Given the description of an element on the screen output the (x, y) to click on. 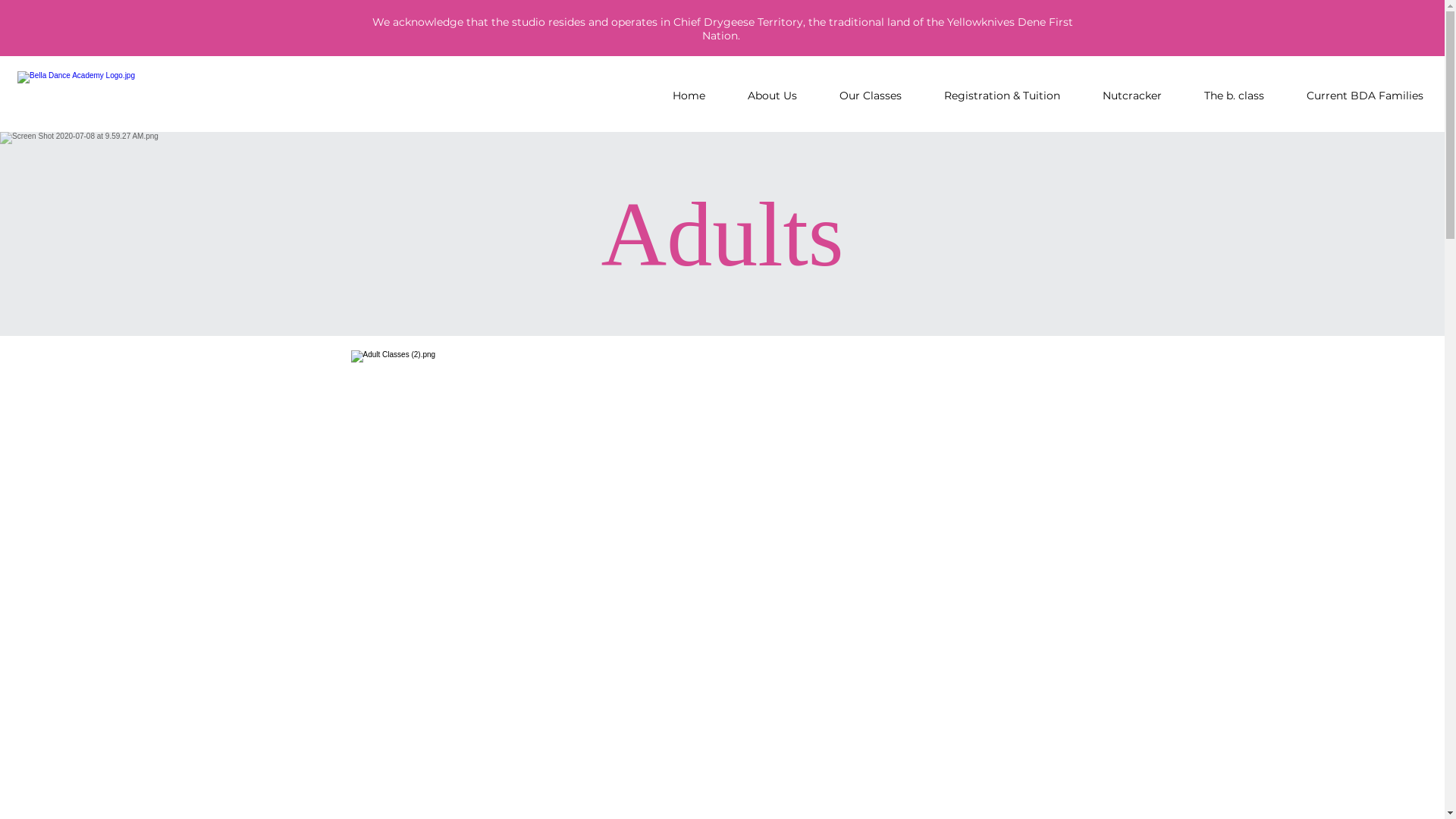
Our Classes Element type: text (870, 95)
Current BDA Families Element type: text (1364, 95)
The b. class Element type: text (1234, 95)
Nutcracker Element type: text (1132, 95)
About Us Element type: text (772, 95)
Home Element type: text (688, 95)
Registration & Tuition Element type: text (1001, 95)
